Given the description of an element on the screen output the (x, y) to click on. 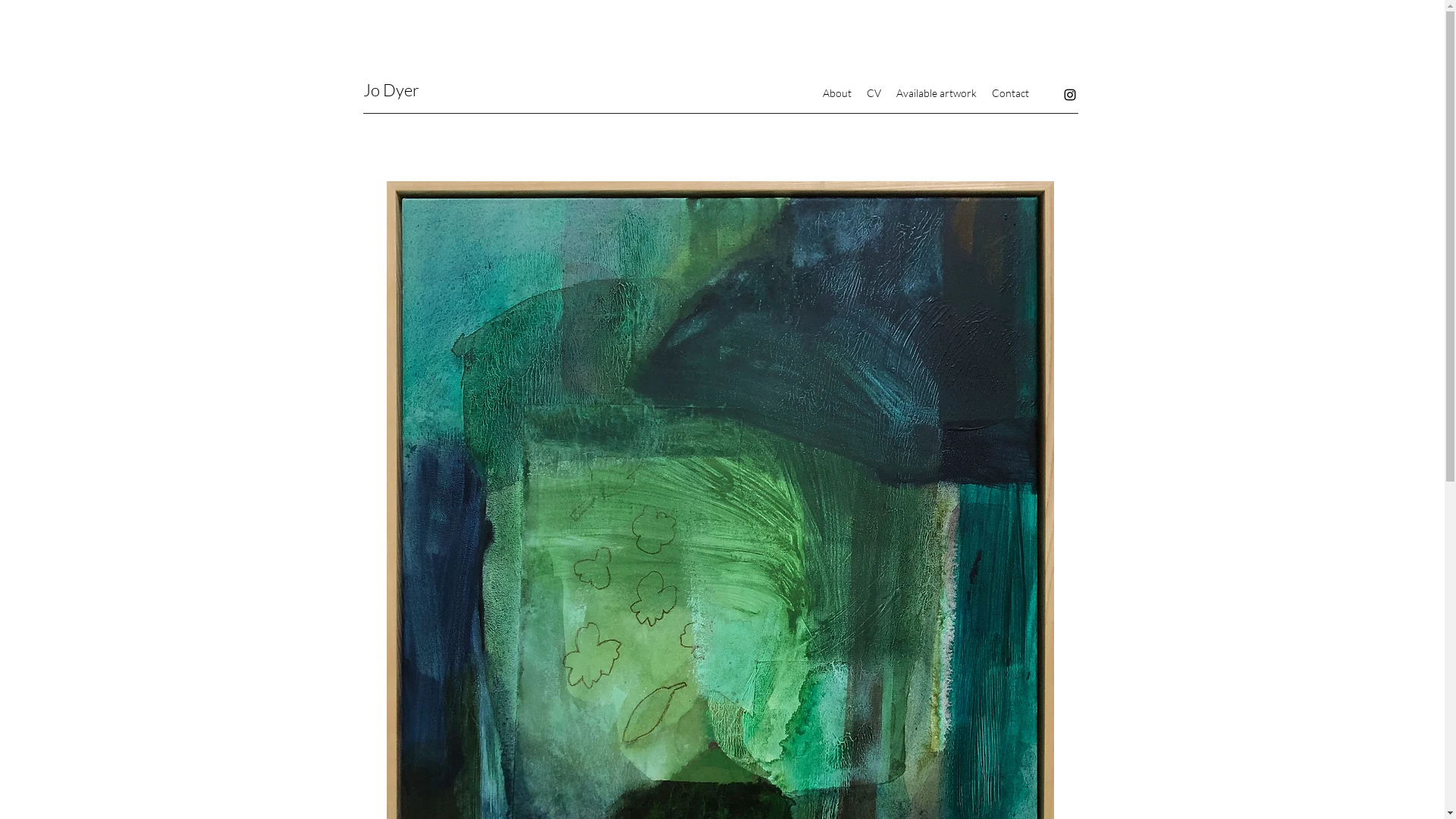
CV Element type: text (873, 92)
About Element type: text (836, 92)
Contact Element type: text (1010, 92)
Jo Dyer Element type: text (390, 89)
